Given the description of an element on the screen output the (x, y) to click on. 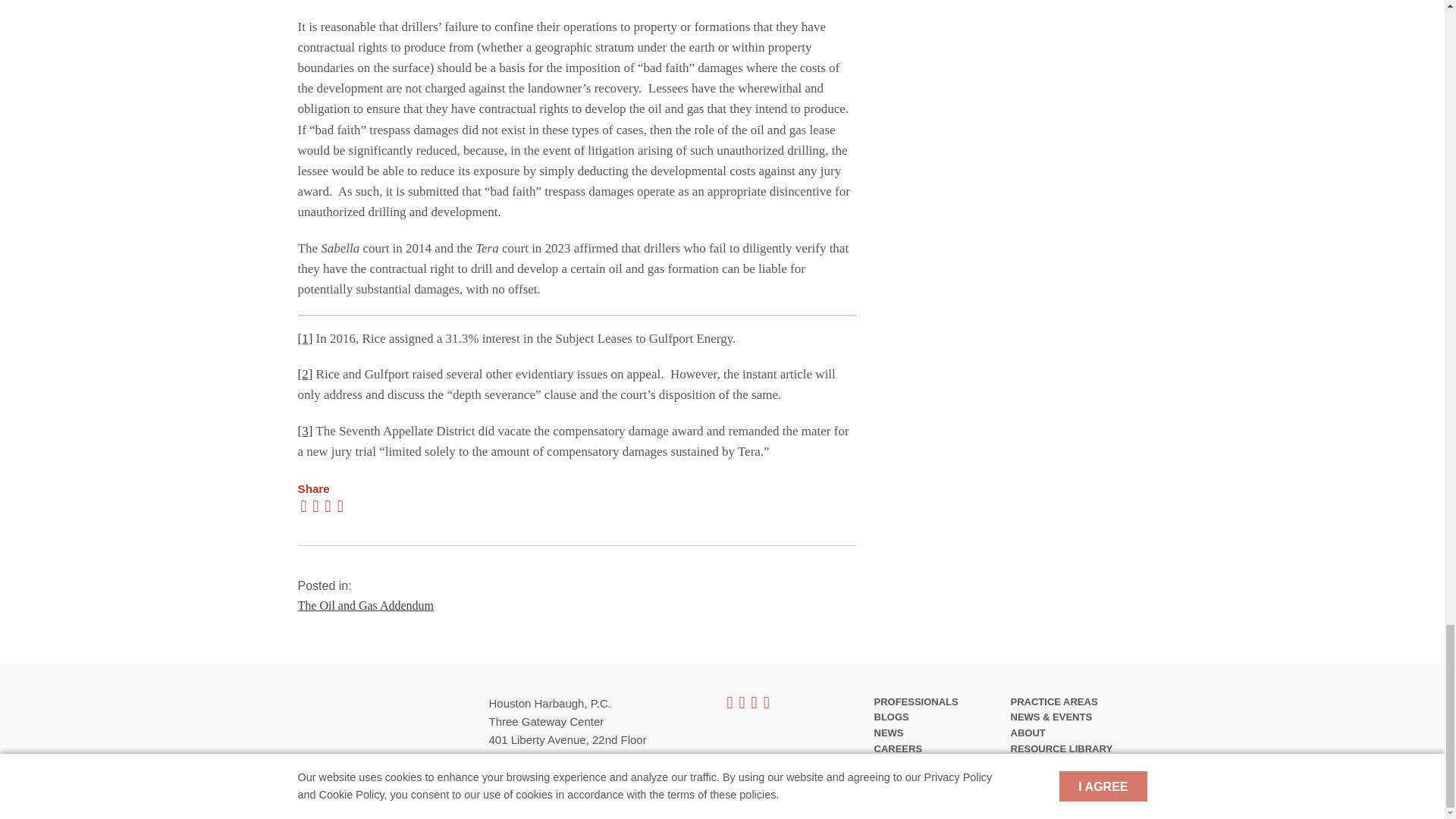
The Oil and Gas Addendum (365, 604)
